Given the description of an element on the screen output the (x, y) to click on. 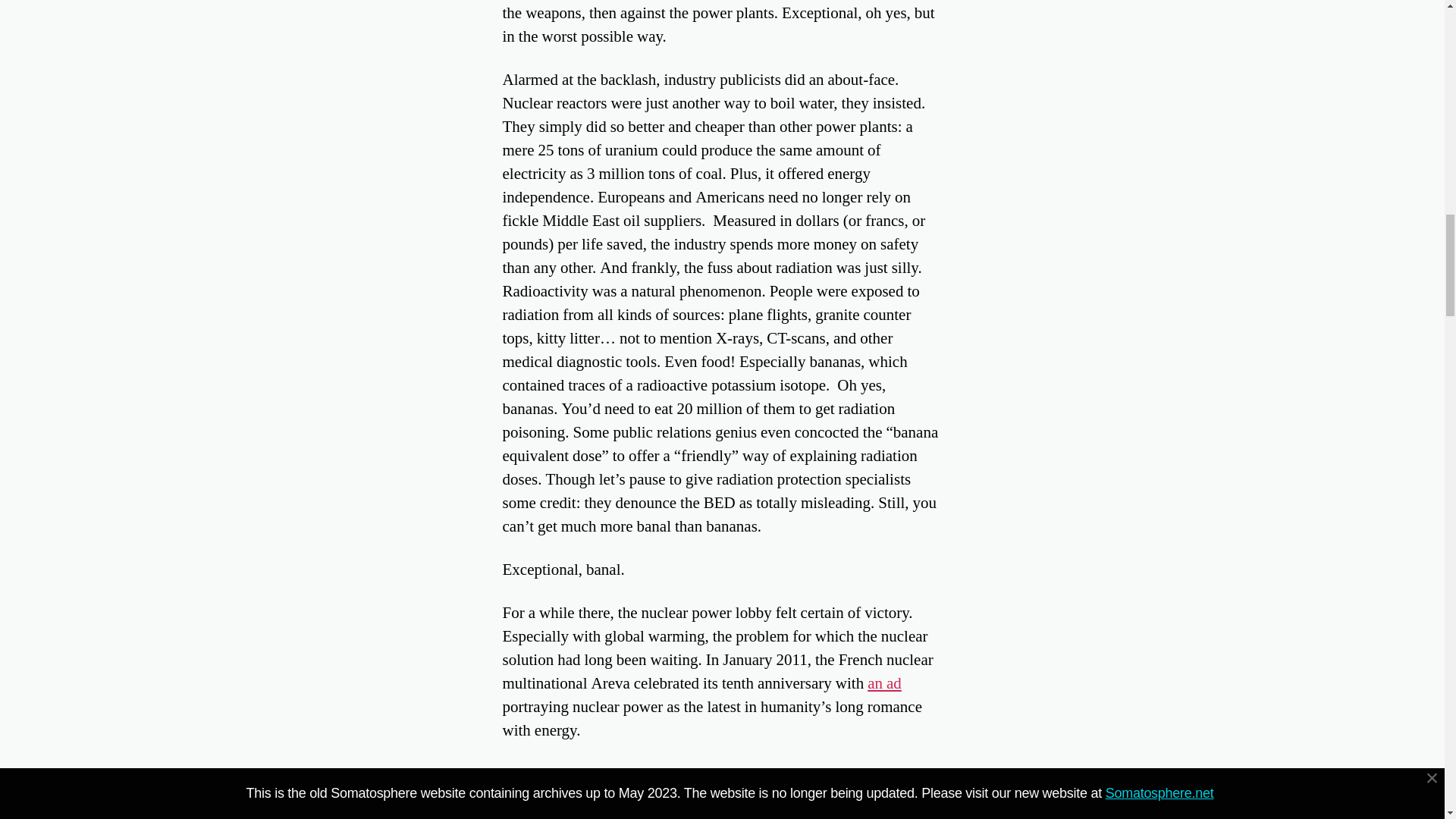
an ad (884, 683)
